Given the description of an element on the screen output the (x, y) to click on. 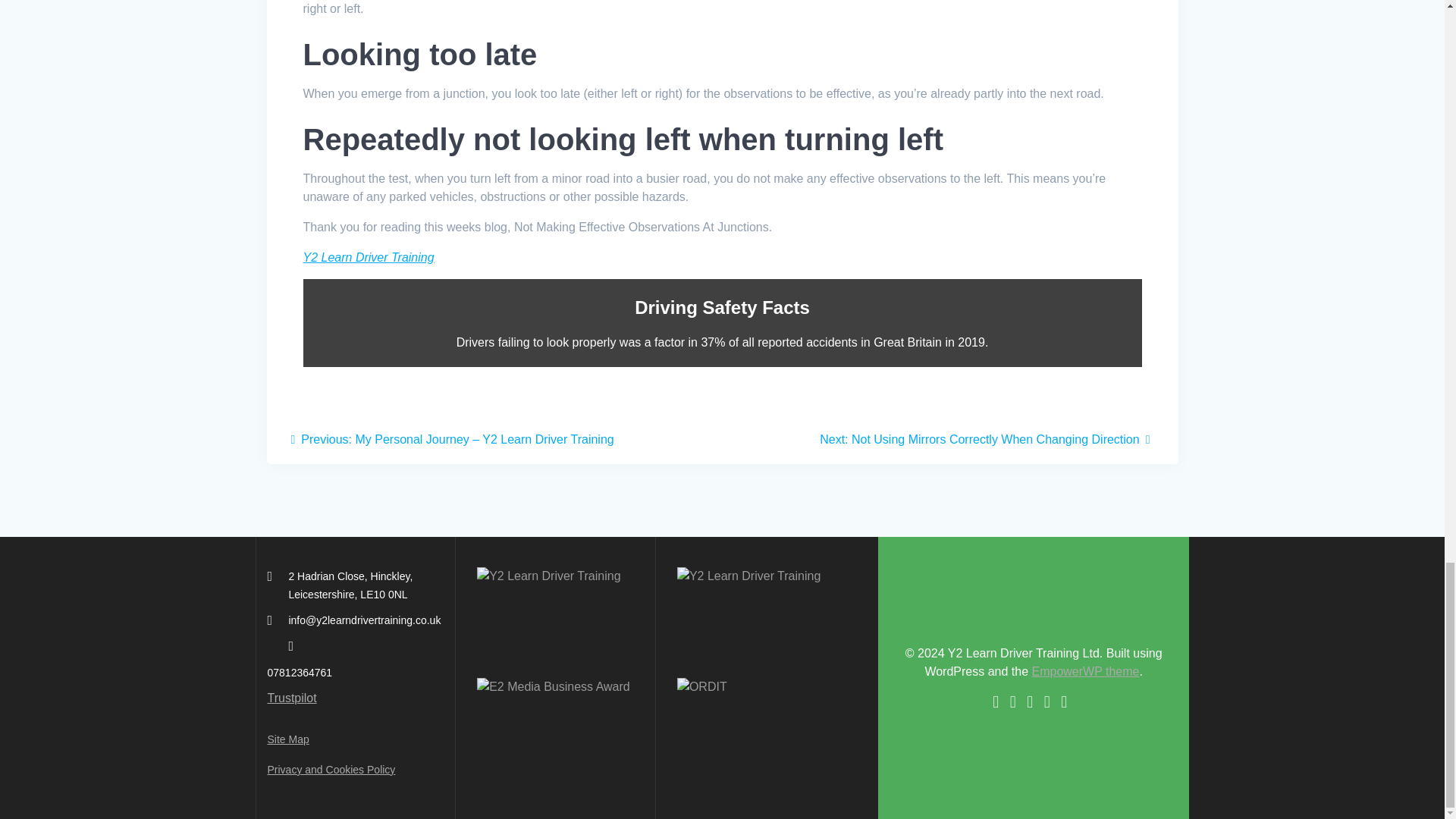
Y2 Learn Driver Training (367, 256)
Trustpilot (290, 697)
